Given the description of an element on the screen output the (x, y) to click on. 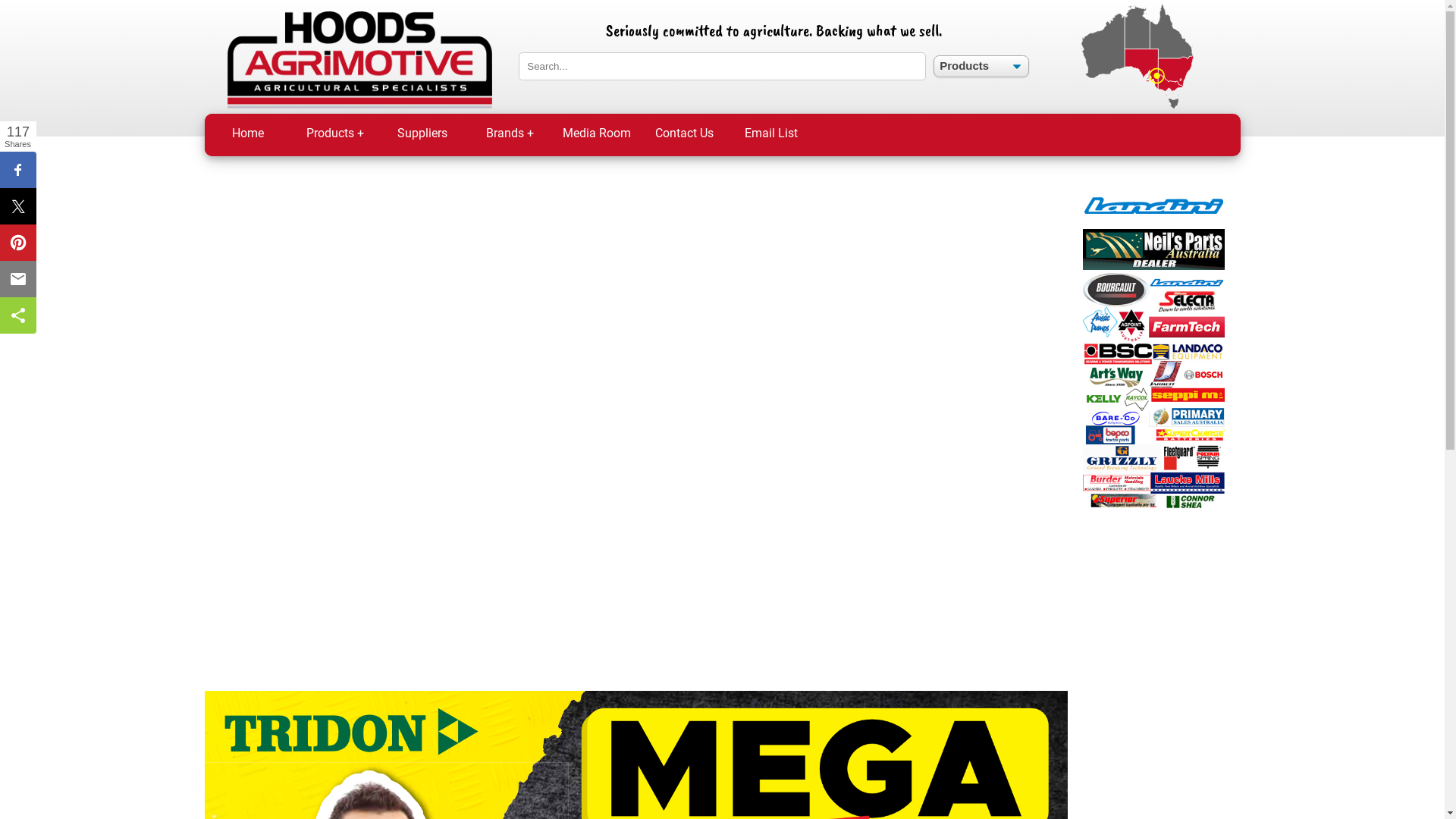
Home Element type: text (247, 134)
YouTube video player Element type: hover (635, 422)
Suppliers Element type: text (422, 134)
Media Room Element type: text (596, 134)
Products + Element type: text (334, 134)
Email List Element type: text (771, 134)
Contact Us Element type: text (683, 134)
Brands + Element type: text (508, 134)
